Given the description of an element on the screen output the (x, y) to click on. 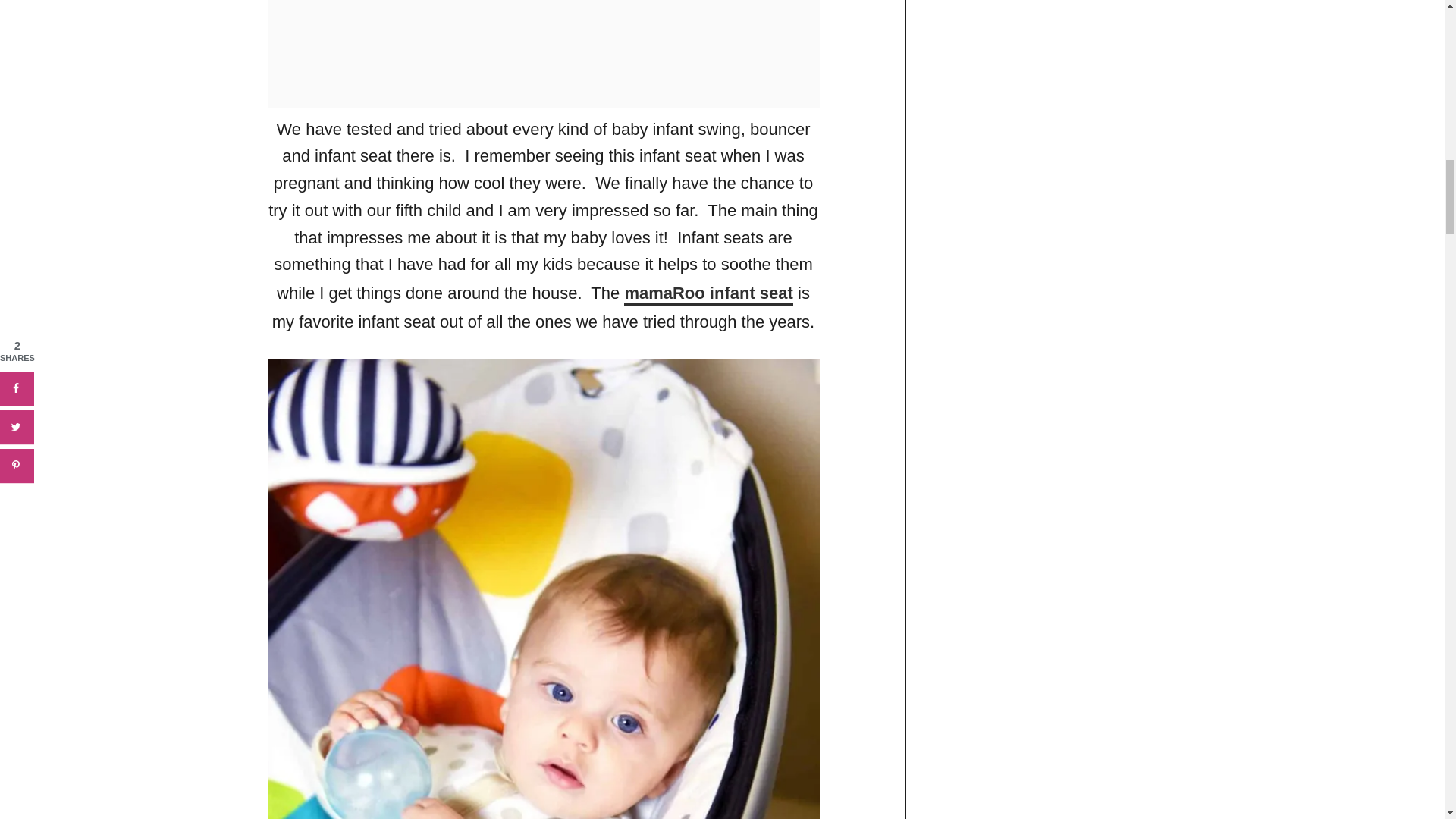
mamaRoo infant seat (708, 294)
